Given the description of an element on the screen output the (x, y) to click on. 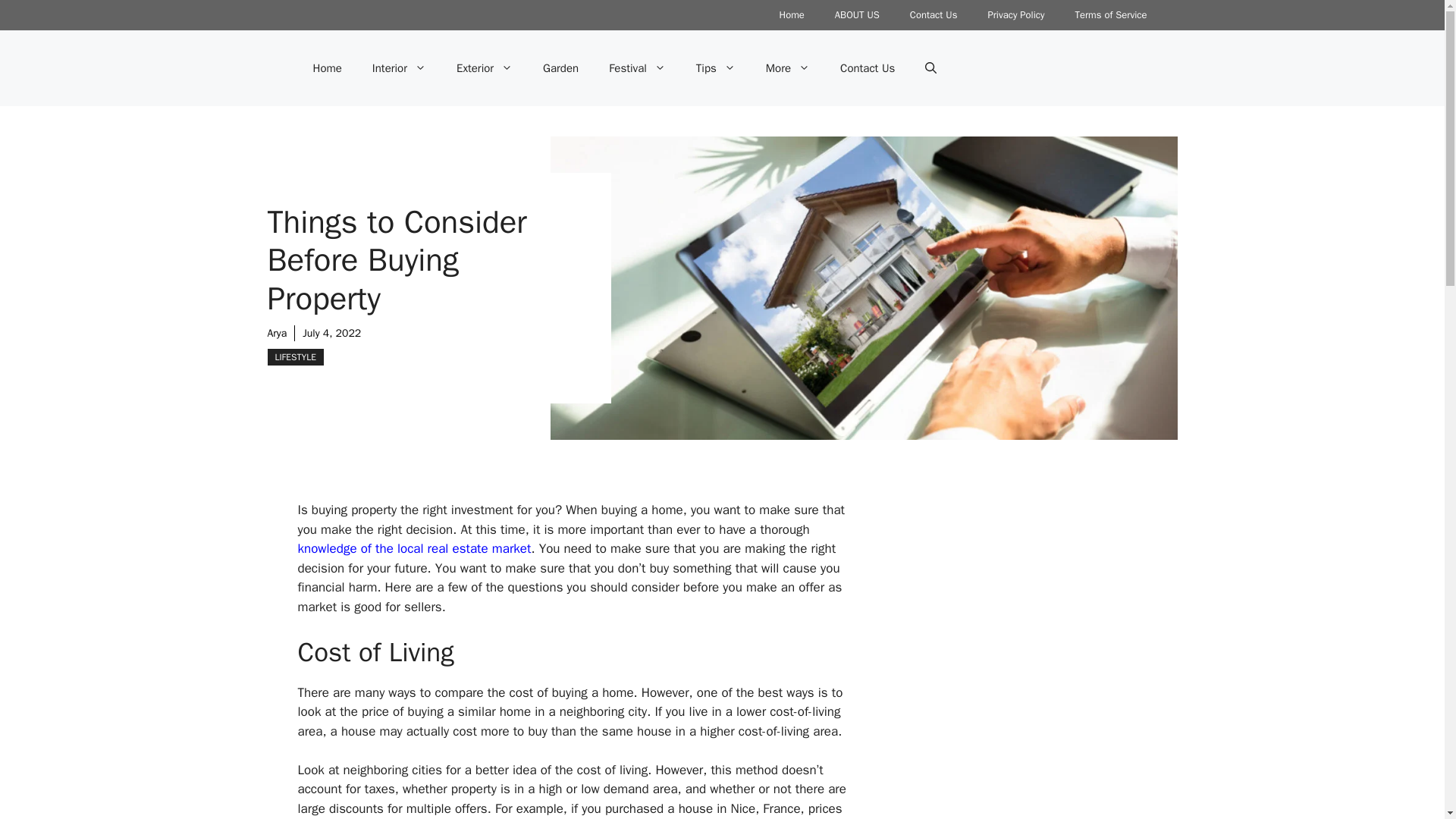
Tips (716, 67)
Home (791, 15)
Privacy Policy (1015, 15)
Festival (637, 67)
Interior (398, 67)
Terms of Service (1110, 15)
Exterior (484, 67)
ABOUT US (857, 15)
More (788, 67)
Garden (560, 67)
Home (326, 67)
Contact Us (933, 15)
